Given the description of an element on the screen output the (x, y) to click on. 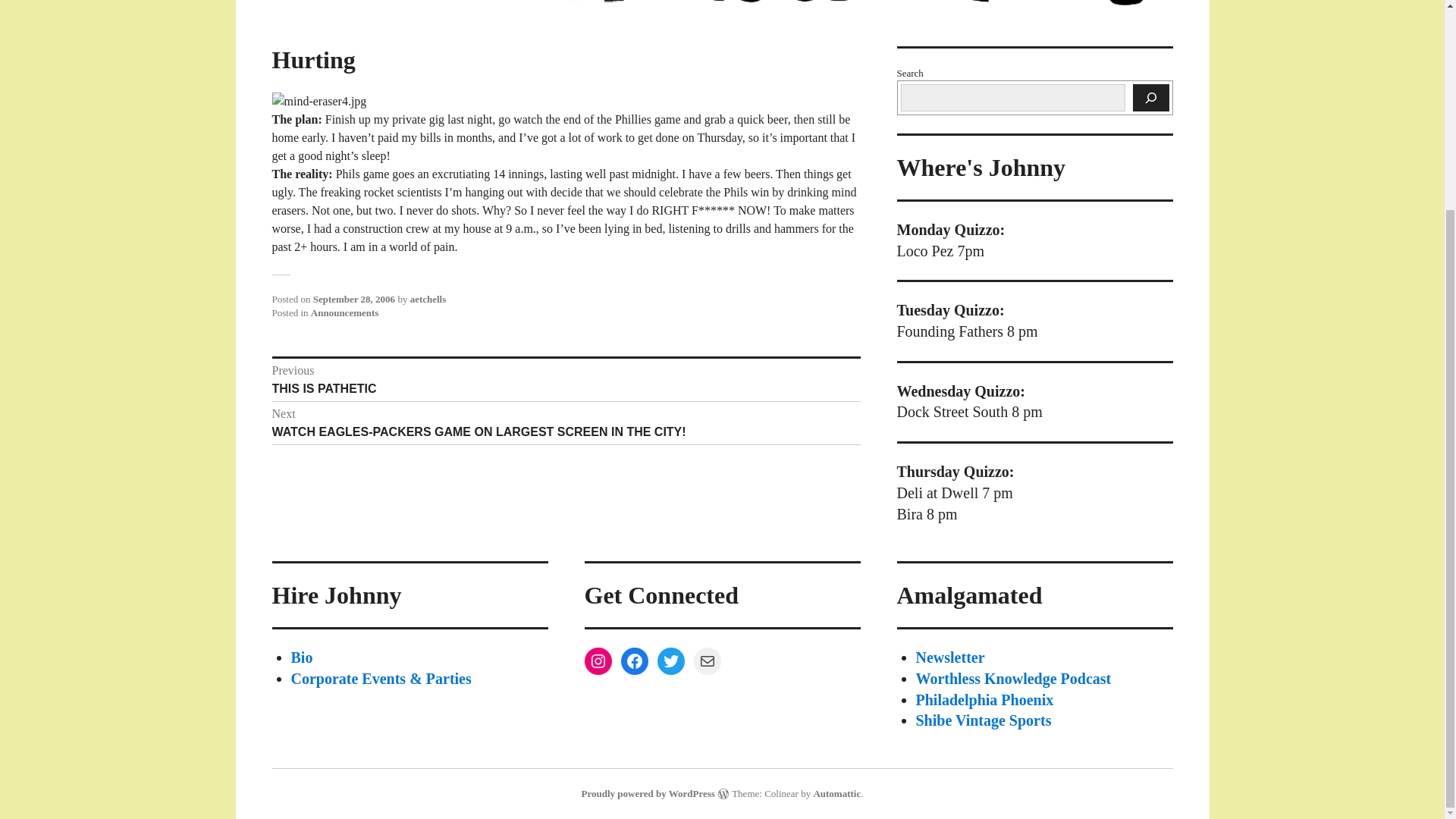
Bio (302, 657)
Instagram (597, 660)
Newsletter (950, 657)
Shibe Vintage Sports (983, 719)
Facebook (633, 660)
Twitter (670, 660)
Automattic (836, 793)
aetchells (428, 298)
Philadelphia Phoenix (565, 379)
